Given the description of an element on the screen output the (x, y) to click on. 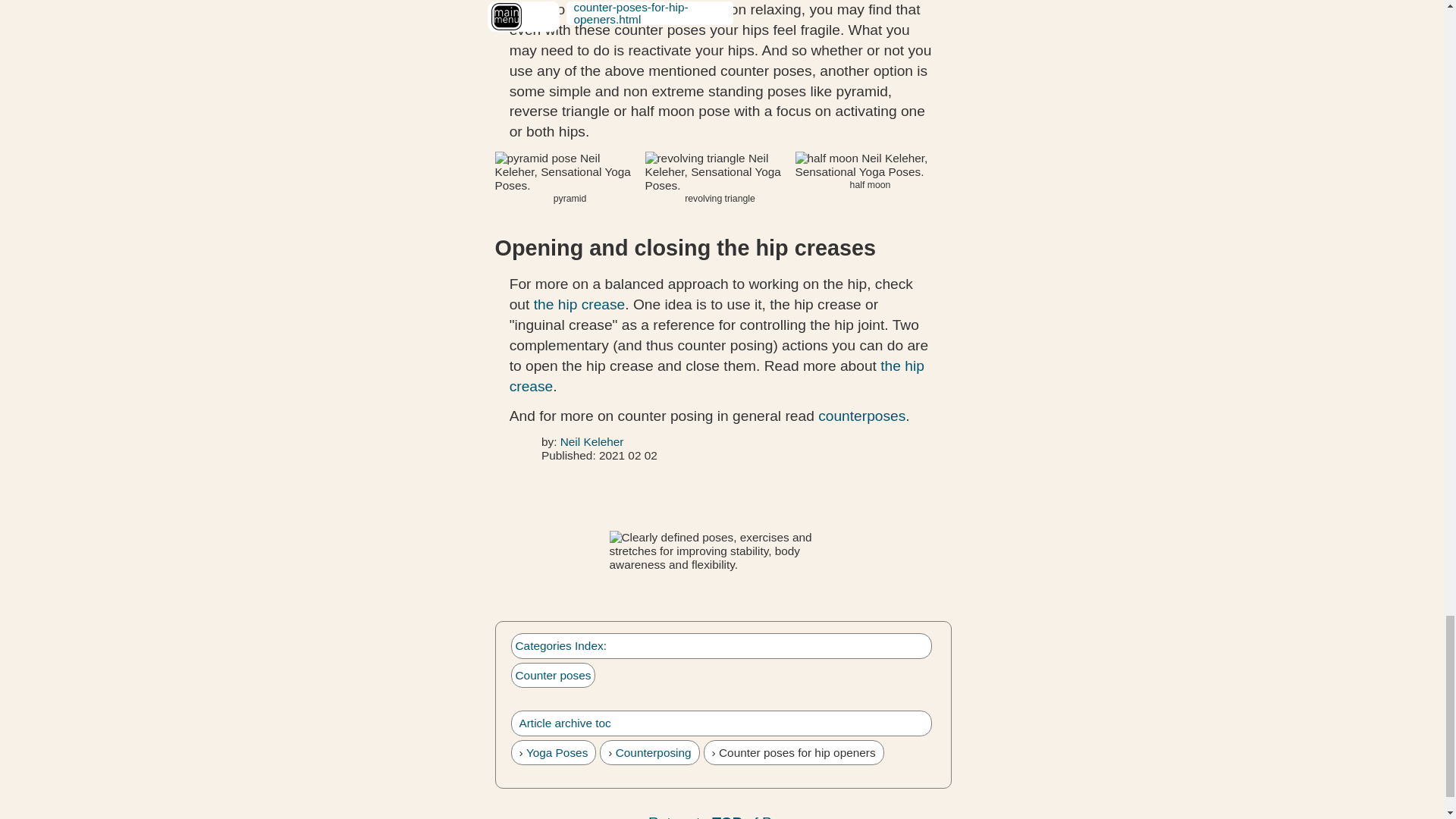
Yoga Poses (556, 752)
Neil Keleher (592, 440)
Article archive toc (564, 722)
Counterposing (653, 752)
counterposes (861, 415)
Counter poses (553, 675)
pyramid pose (570, 171)
Sensational Yoga Poses (722, 550)
half moon (869, 165)
Categories Index (559, 645)
revolving triangle (719, 171)
the hip crease (580, 304)
the hip crease (716, 375)
